Given the description of an element on the screen output the (x, y) to click on. 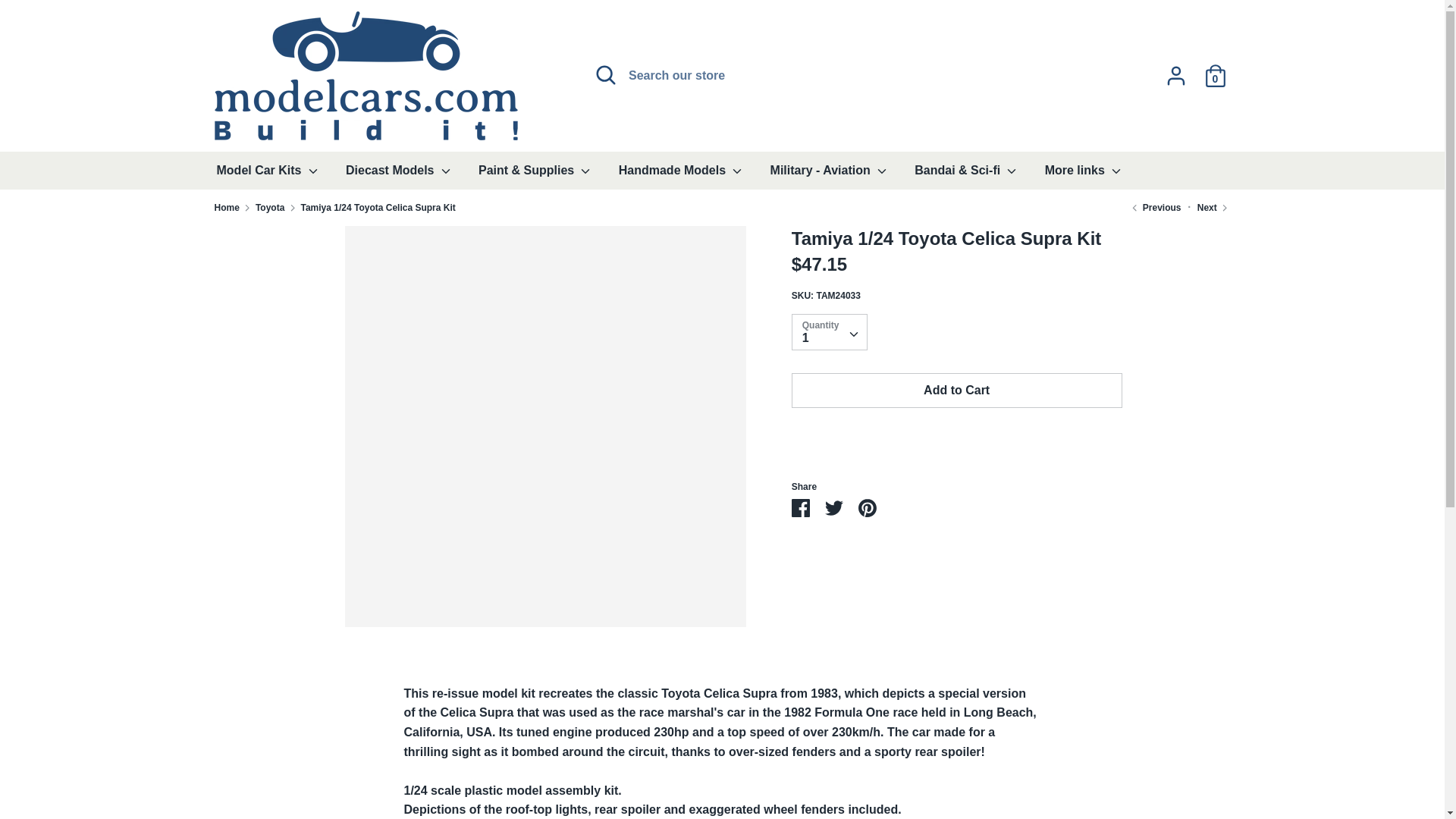
1 (829, 331)
0 (1214, 69)
